Given the description of an element on the screen output the (x, y) to click on. 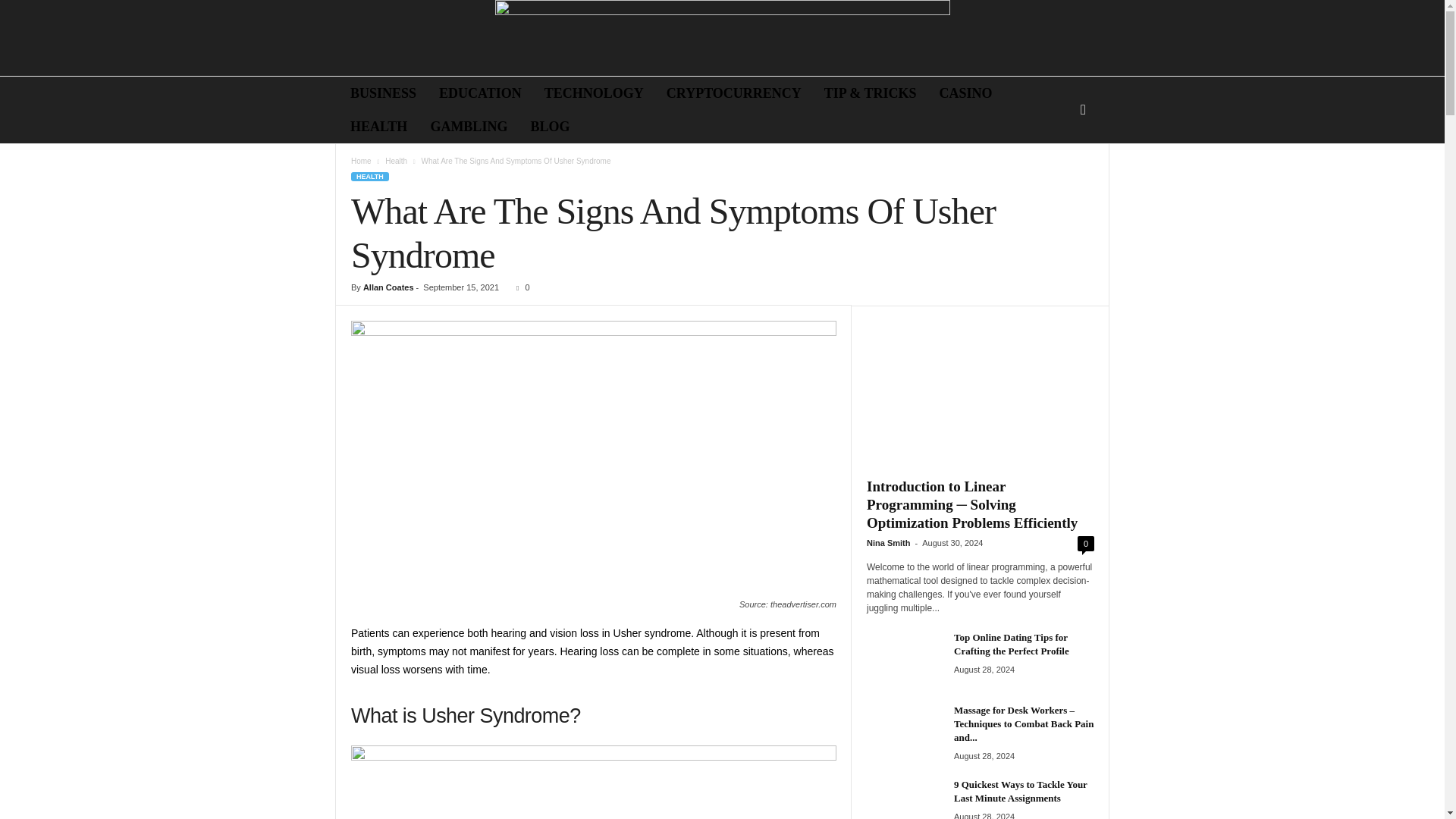
HEALTH (369, 175)
Health (396, 161)
BUSINESS (383, 92)
Home (360, 161)
BLOG (549, 126)
HEALTH (379, 126)
TECHNOLOGY (593, 92)
CRYPTOCURRENCY (733, 92)
CASINO (966, 92)
View all posts in Health (396, 161)
